Given the description of an element on the screen output the (x, y) to click on. 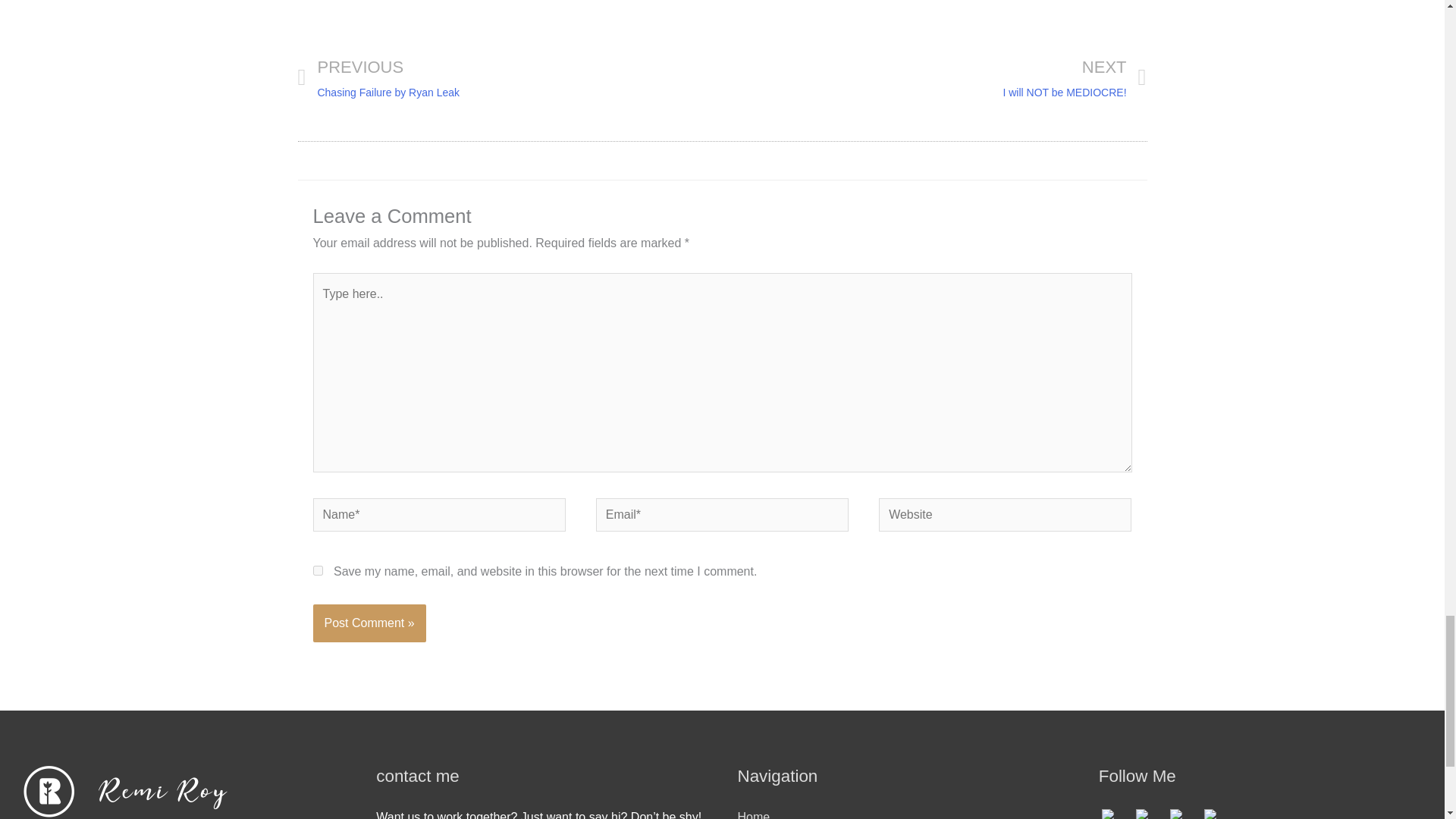
yes (934, 77)
Twitter (317, 570)
Facebook (1150, 814)
YouTube (1117, 814)
Home (1184, 814)
Instagram (753, 814)
